Given the description of an element on the screen output the (x, y) to click on. 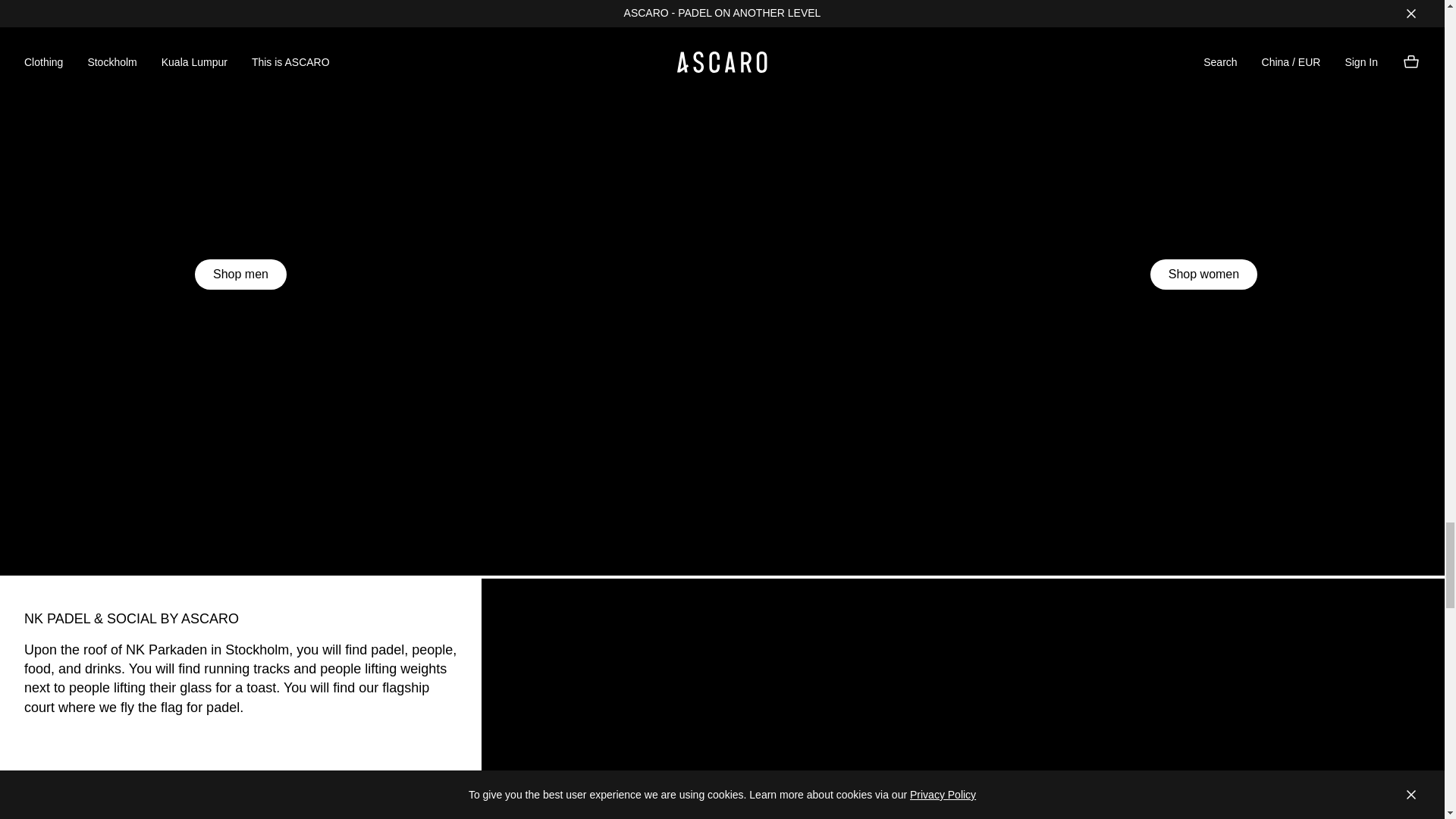
Shop women (1203, 274)
Shop men (240, 274)
